Given the description of an element on the screen output the (x, y) to click on. 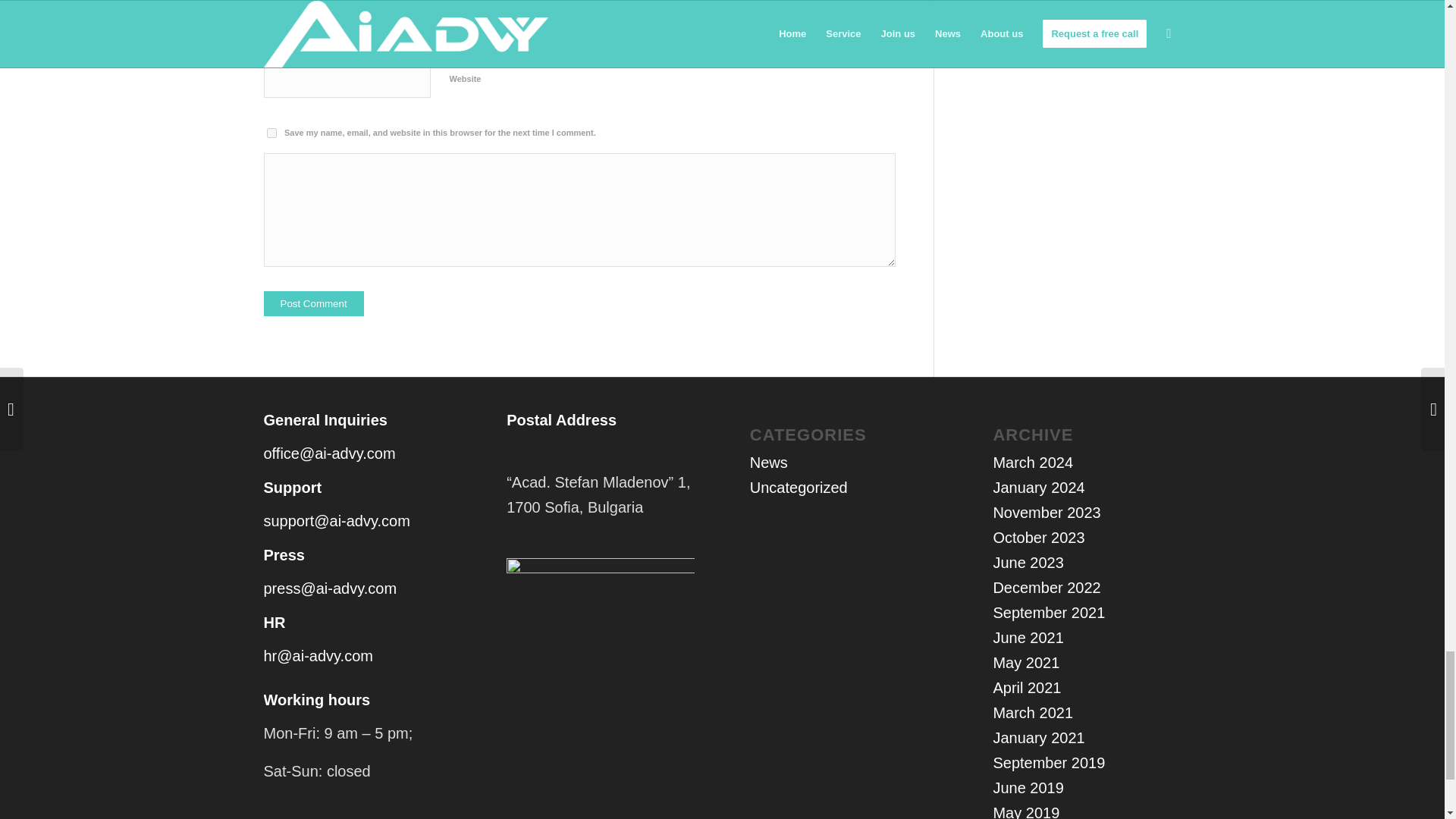
yes (271, 132)
Post Comment (313, 303)
